Given the description of an element on the screen output the (x, y) to click on. 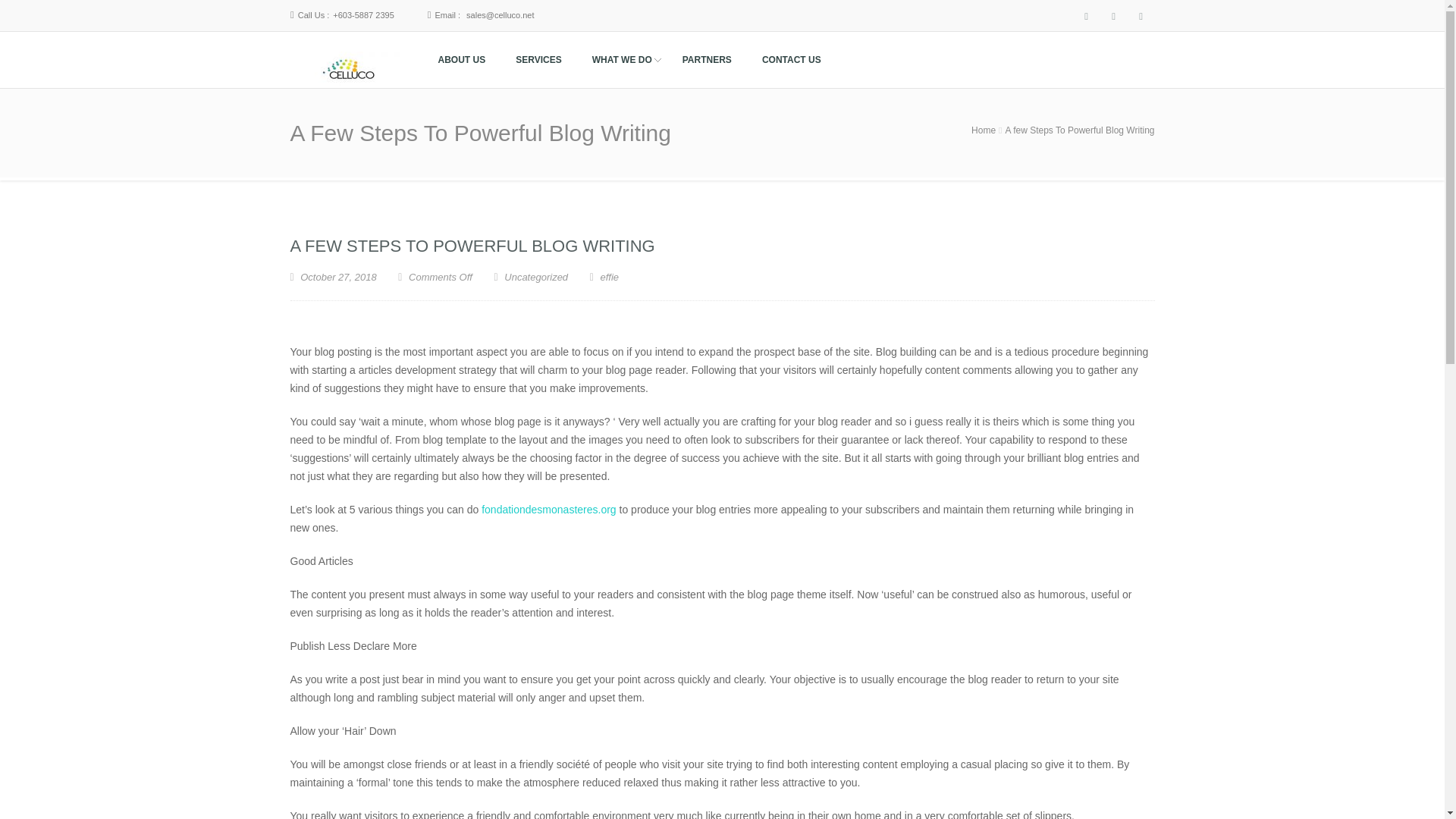
CELLUCO SOLUTIONS (354, 107)
SERVICES (537, 59)
CELLUCO SOLUTIONS (354, 107)
effie (603, 276)
Home (983, 129)
Uncategorized (535, 276)
fondationdesmonasteres.org (548, 509)
ABOUT US (461, 59)
WHAT WE DO (434, 276)
October 27, 2018 (621, 59)
PARTNERS (332, 276)
A FEW STEPS TO POWERFUL BLOG WRITING (706, 59)
CONTACT US (471, 245)
